Given the description of an element on the screen output the (x, y) to click on. 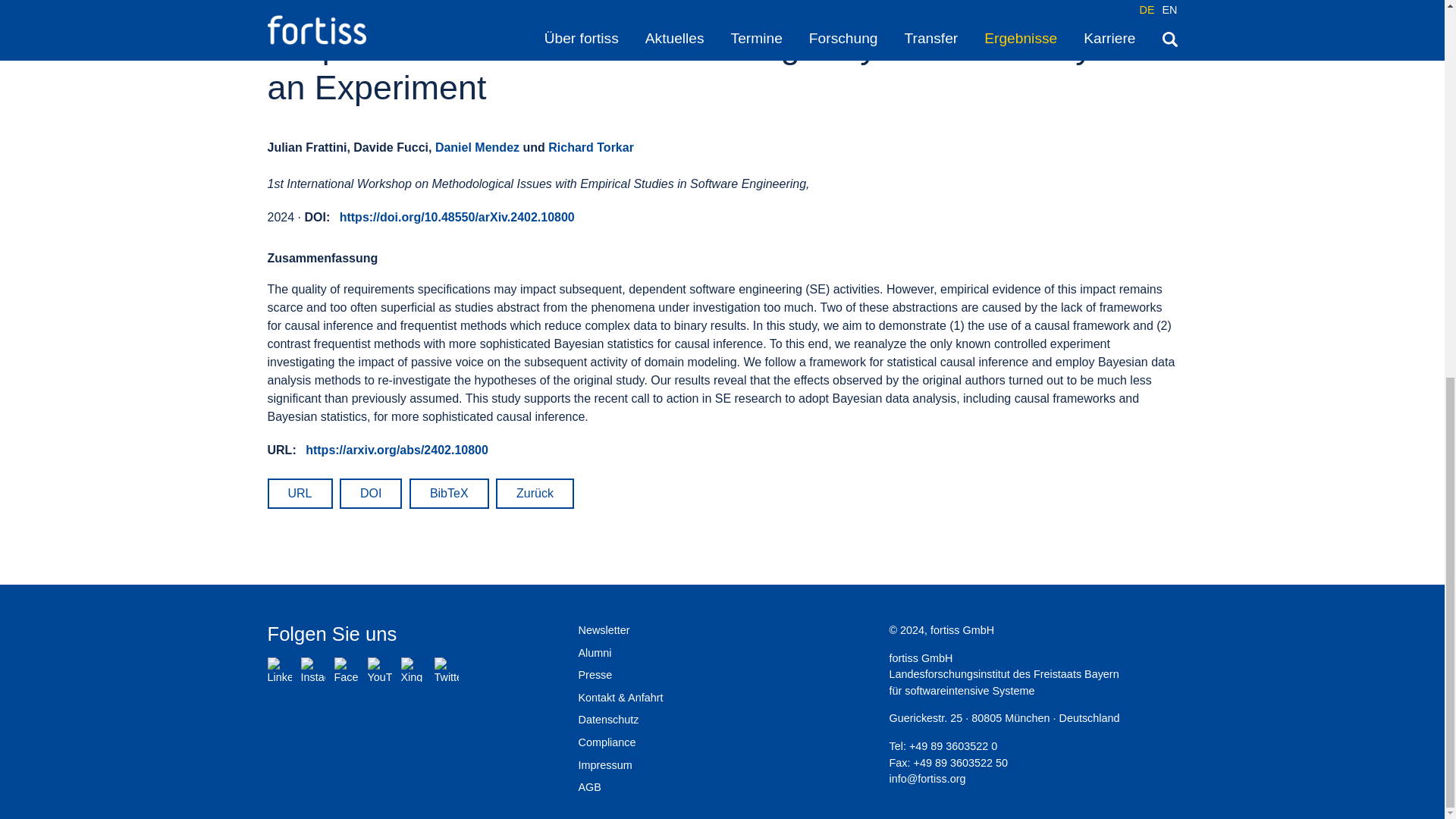
LinkedIn (278, 669)
Twitter (445, 669)
Facebook (345, 669)
Instagram (311, 669)
Xing (412, 669)
YouTube (378, 669)
